Given the description of an element on the screen output the (x, y) to click on. 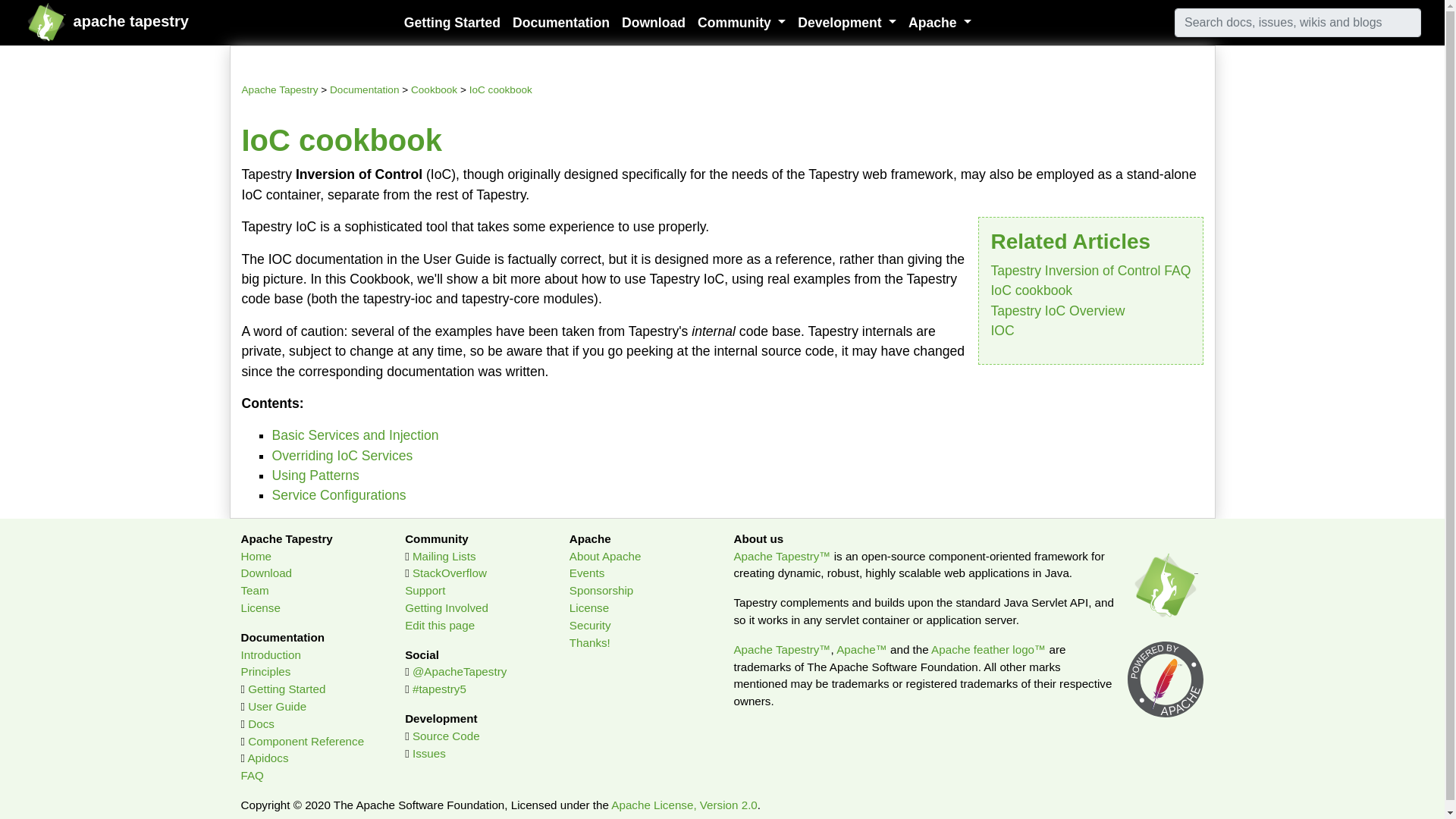
Cookbook (433, 89)
Getting Started (451, 22)
Apache (939, 22)
IoC cookbook (1030, 290)
IoC cookbook (500, 89)
Download (266, 572)
Community (741, 22)
Tapestry Inversion of Control FAQ (1090, 270)
Related Articles (1090, 290)
Apache Tapestry (45, 22)
Documentation (364, 89)
Service Configurations (338, 494)
Team (255, 590)
Documentation (560, 22)
Home (256, 555)
